Given the description of an element on the screen output the (x, y) to click on. 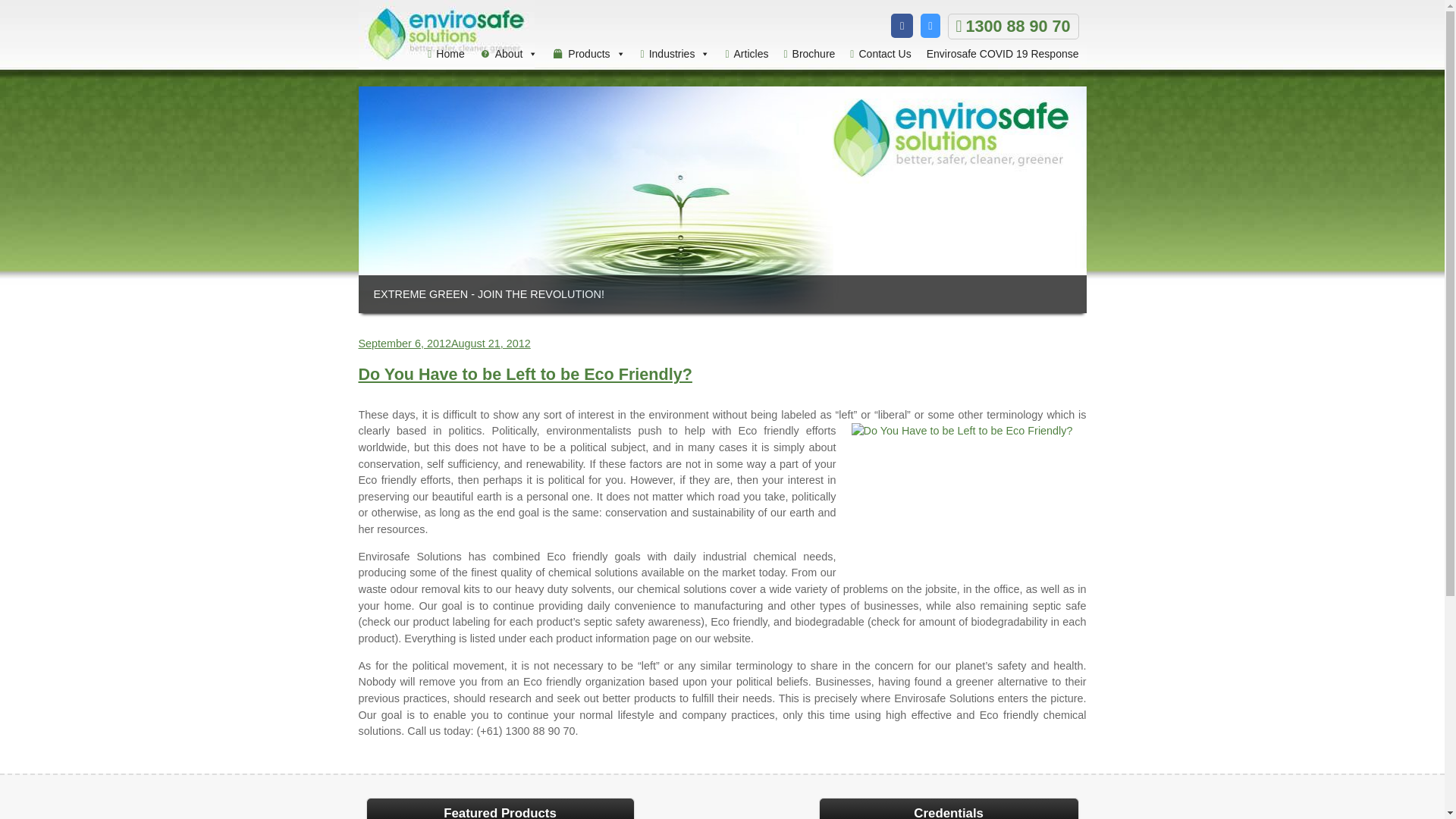
Home (445, 54)
Envirosafe Rating Info (815, 24)
Do You Have to be Left to be Eco Friendly? (964, 501)
About (508, 54)
Products (587, 54)
Follow us on Facebook (901, 25)
